Given the description of an element on the screen output the (x, y) to click on. 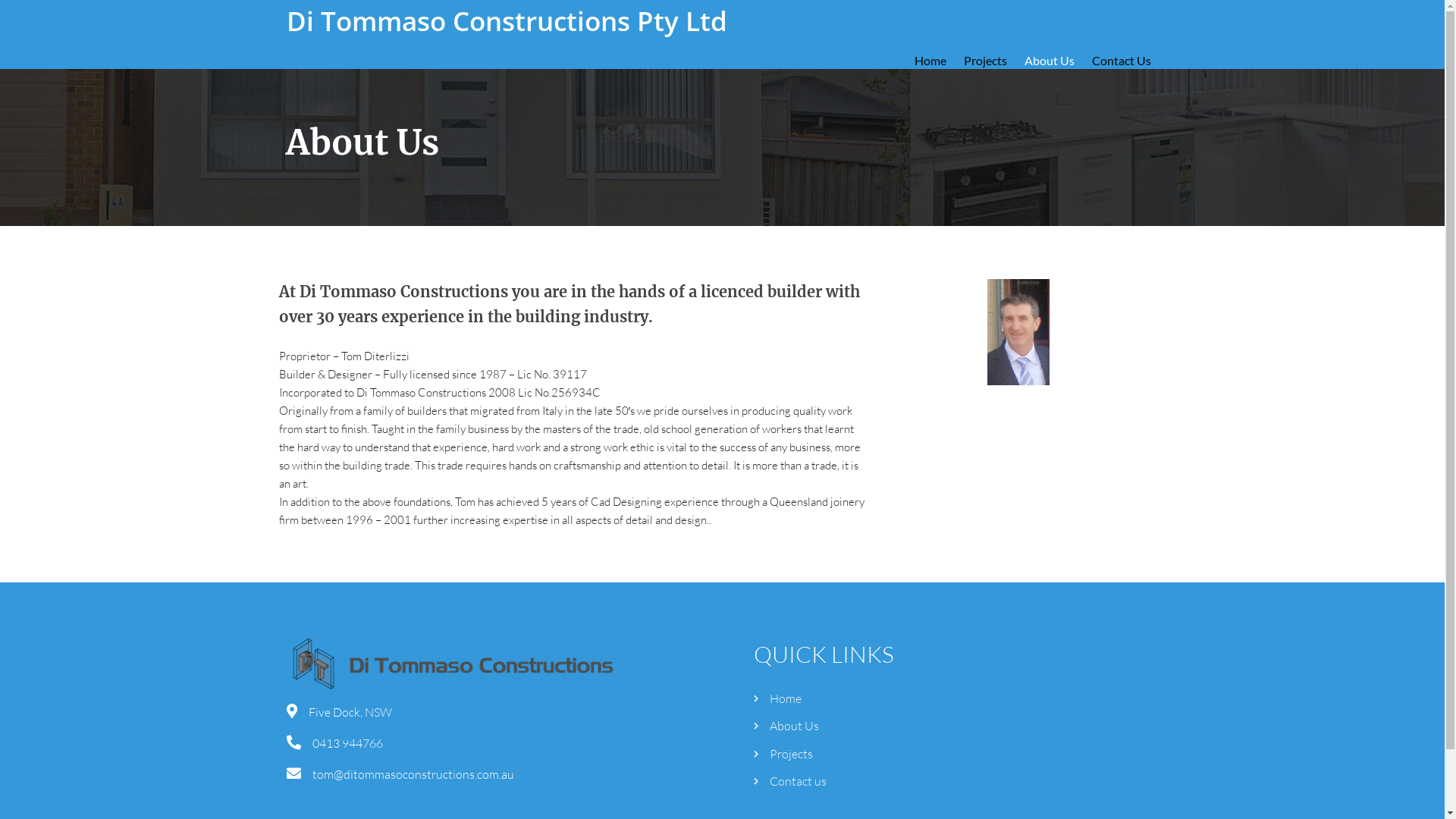
Home Element type: text (955, 698)
Contact Us Element type: text (1121, 60)
Projects Element type: text (984, 60)
Home Element type: text (929, 60)
About Us Element type: text (955, 725)
Contact us Element type: text (955, 780)
tom-e1369559495968 (1) Element type: hover (1018, 332)
logo-long Element type: hover (456, 662)
Projects Element type: text (955, 753)
About Us Element type: text (1048, 60)
tom@ditommasoconstructions.com.au Element type: text (413, 774)
